Given the description of an element on the screen output the (x, y) to click on. 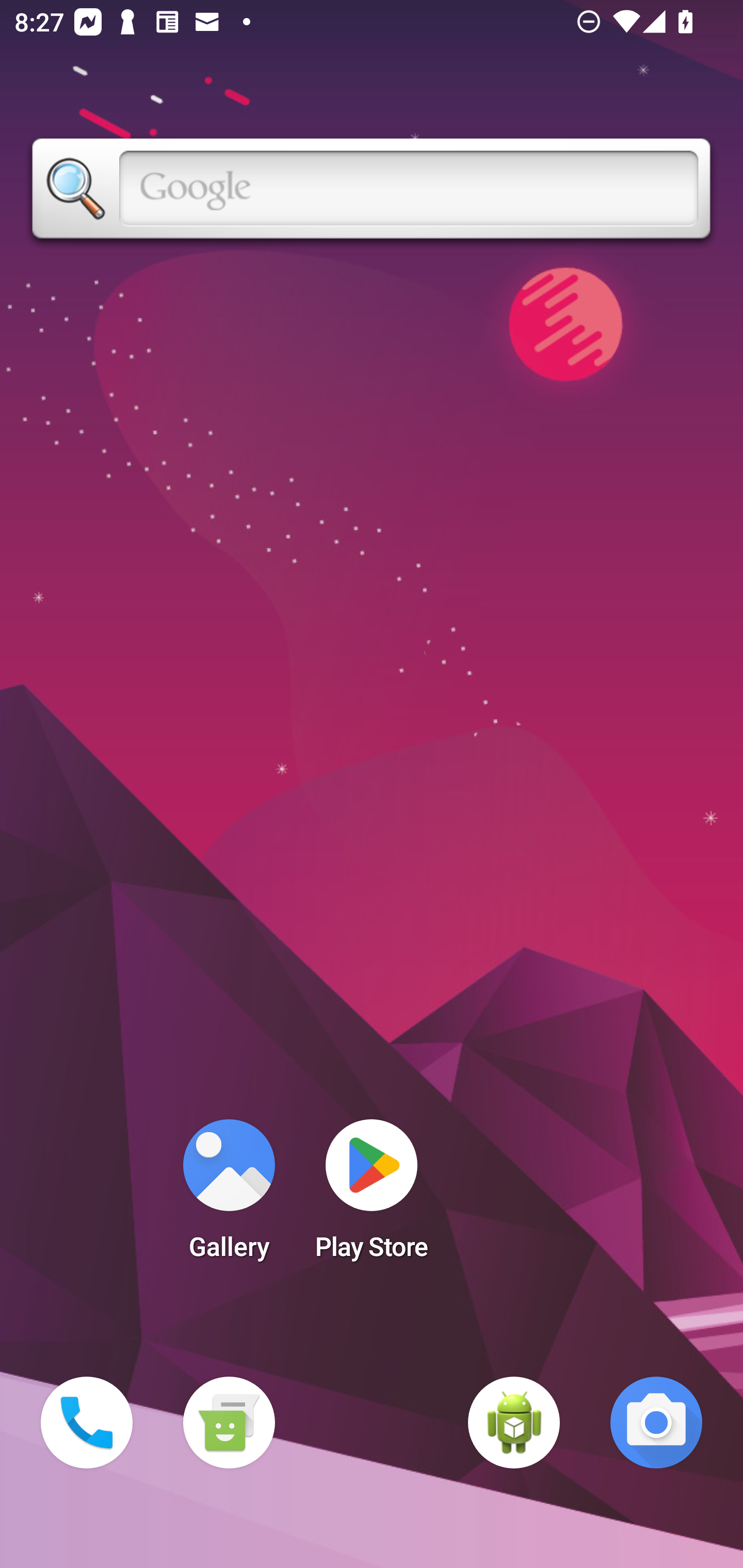
Gallery (228, 1195)
Play Store (371, 1195)
Phone (86, 1422)
Messaging (228, 1422)
WebView Browser Tester (513, 1422)
Camera (656, 1422)
